Given the description of an element on the screen output the (x, y) to click on. 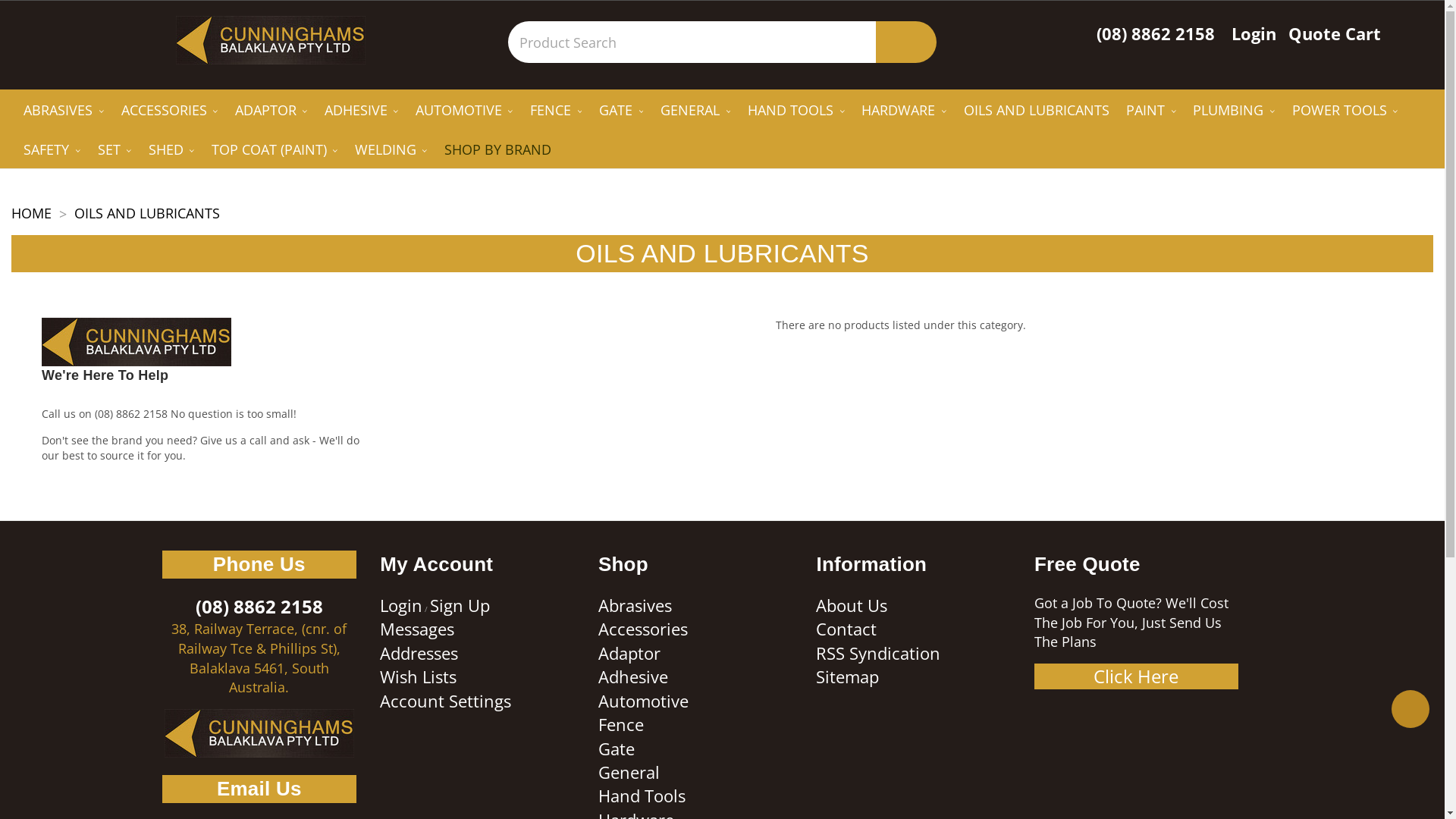
Messages Element type: text (416, 628)
(08) 8862 2158 Element type: text (1155, 33)
GATE Element type: text (621, 111)
OILS AND LUBRICANTS Element type: text (146, 212)
POWER TOOLS Element type: text (1344, 111)
Click Here Element type: text (1135, 675)
ABRASIVES Element type: text (63, 111)
GENERAL Element type: text (695, 111)
Addresses Element type: text (418, 652)
Fence Element type: text (620, 723)
Wish Lists Element type: text (417, 676)
PLUMBING Element type: text (1233, 111)
Login Element type: text (1253, 33)
Contact Element type: text (845, 628)
SAFETY Element type: text (51, 151)
Login Element type: text (400, 604)
HOME Element type: text (31, 212)
HARDWARE Element type: text (903, 111)
Gate Element type: text (616, 748)
TOP COAT (PAINT) Element type: text (273, 151)
Quote Cart Element type: text (1334, 33)
General Element type: text (628, 771)
Adaptor Element type: text (629, 652)
SHOP BY BRAND Element type: text (498, 151)
SET Element type: text (113, 151)
Sign Up Element type: text (459, 604)
About Us Element type: text (851, 604)
ACCESSORIES Element type: text (168, 111)
PAINT Element type: text (1150, 111)
Automotive Element type: text (643, 700)
Sitemap Element type: text (846, 676)
Hand Tools Element type: text (641, 795)
ADHESIVE Element type: text (360, 111)
FENCE Element type: text (555, 111)
Account Settings Element type: text (445, 700)
WELDING Element type: text (390, 151)
AUTOMOTIVE Element type: text (463, 111)
OILS AND LUBRICANTS Element type: text (1035, 111)
Accessories Element type: text (642, 628)
ADAPTOR Element type: text (270, 111)
HAND TOOLS Element type: text (796, 111)
SHED Element type: text (170, 151)
(08) 8862 2158 Element type: text (130, 413)
Adhesive Element type: text (633, 676)
Abrasives Element type: text (634, 604)
RSS Syndication Element type: text (877, 652)
